Given the description of an element on the screen output the (x, y) to click on. 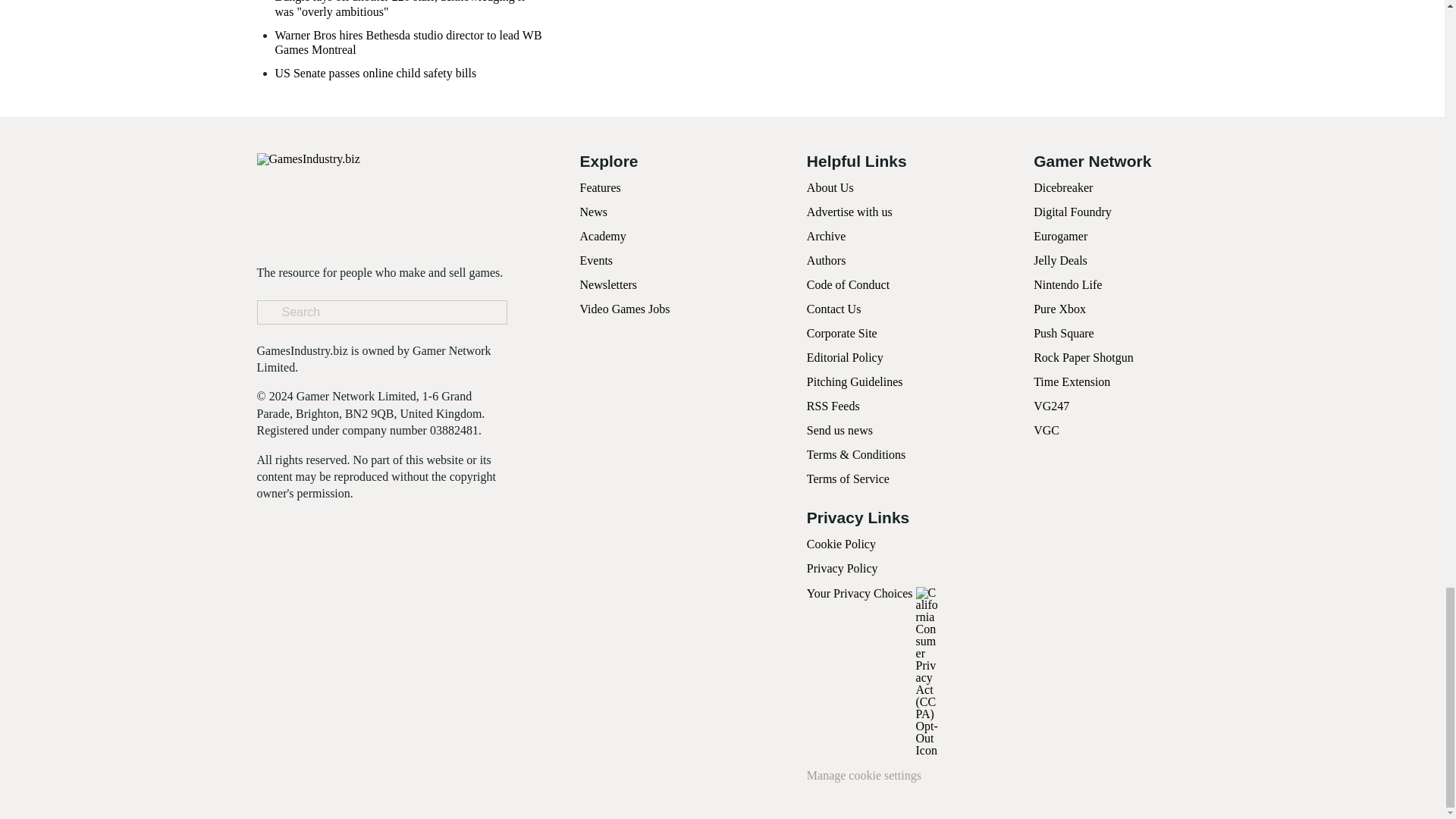
Video Games Jobs (624, 308)
About Us (829, 187)
US Senate passes online child safety bills (375, 73)
News (593, 211)
Events (595, 259)
Features (599, 187)
Newsletters (608, 284)
Advertise with us (849, 211)
Academy (602, 236)
